Given the description of an element on the screen output the (x, y) to click on. 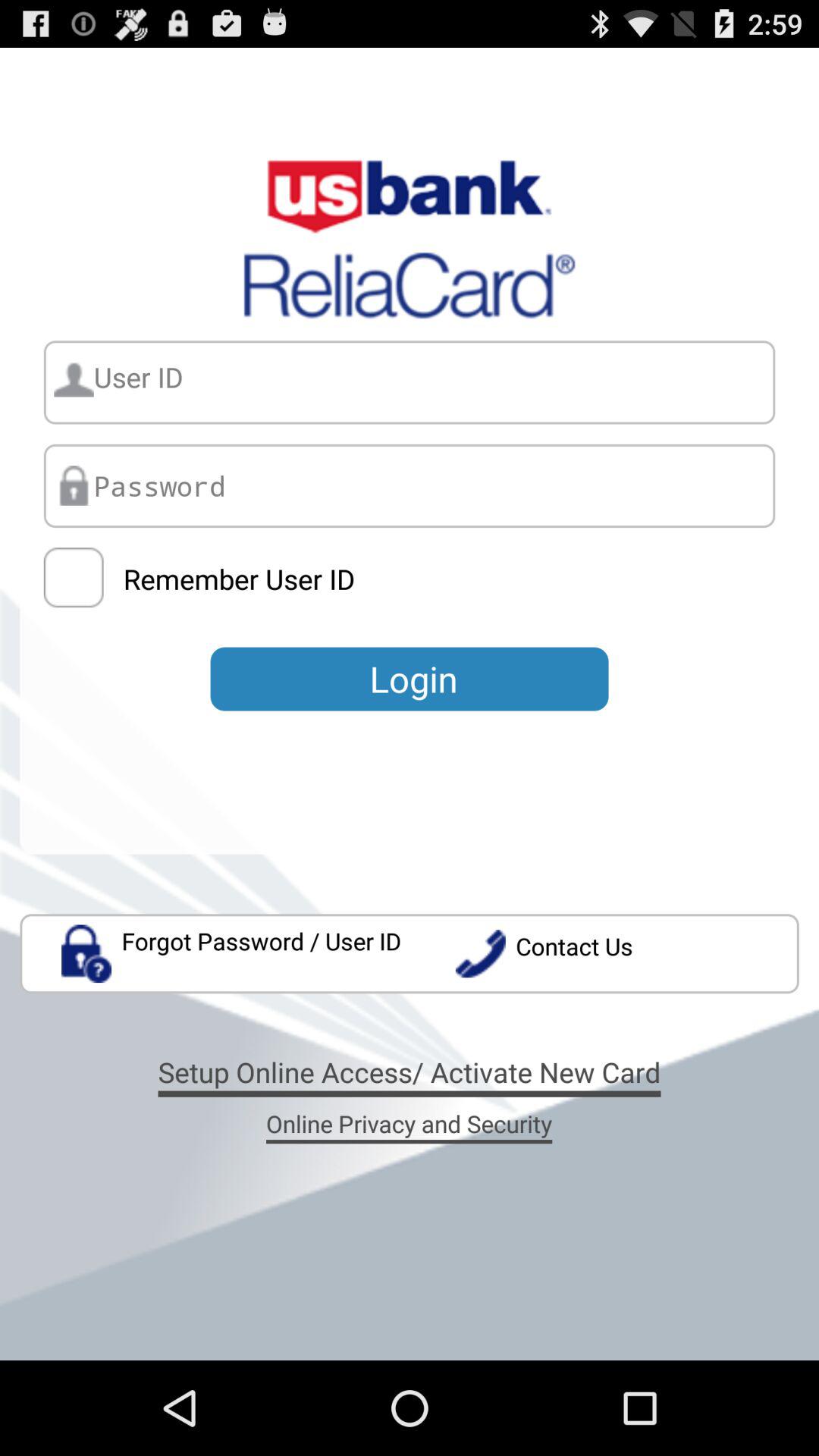
tap forgot password user (232, 953)
